Given the description of an element on the screen output the (x, y) to click on. 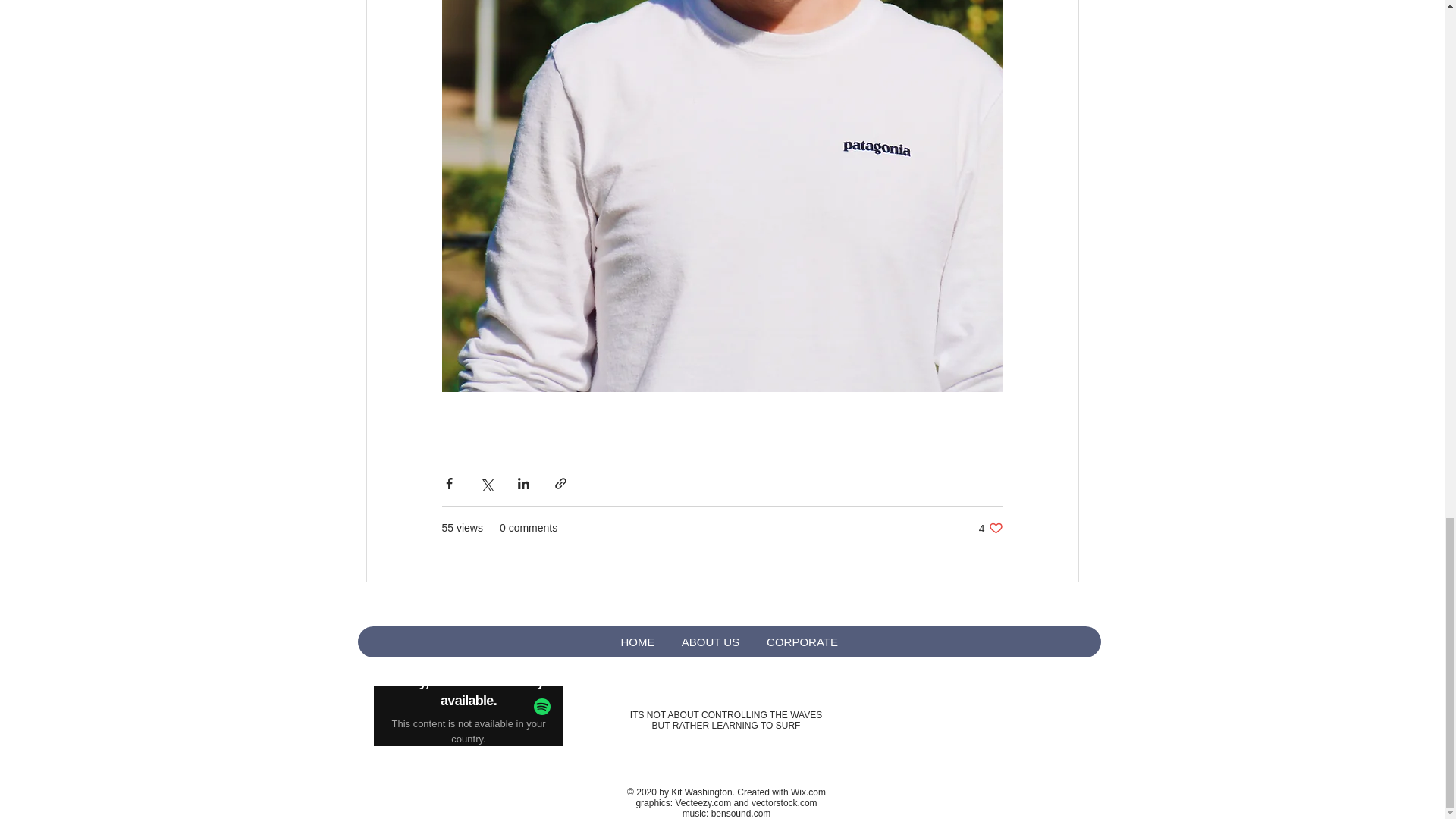
Wix.com (807, 792)
Spotify Player (467, 716)
HOME (636, 641)
Spotify Player (467, 715)
CORPORATE (801, 641)
ABOUT US (990, 527)
